Given the description of an element on the screen output the (x, y) to click on. 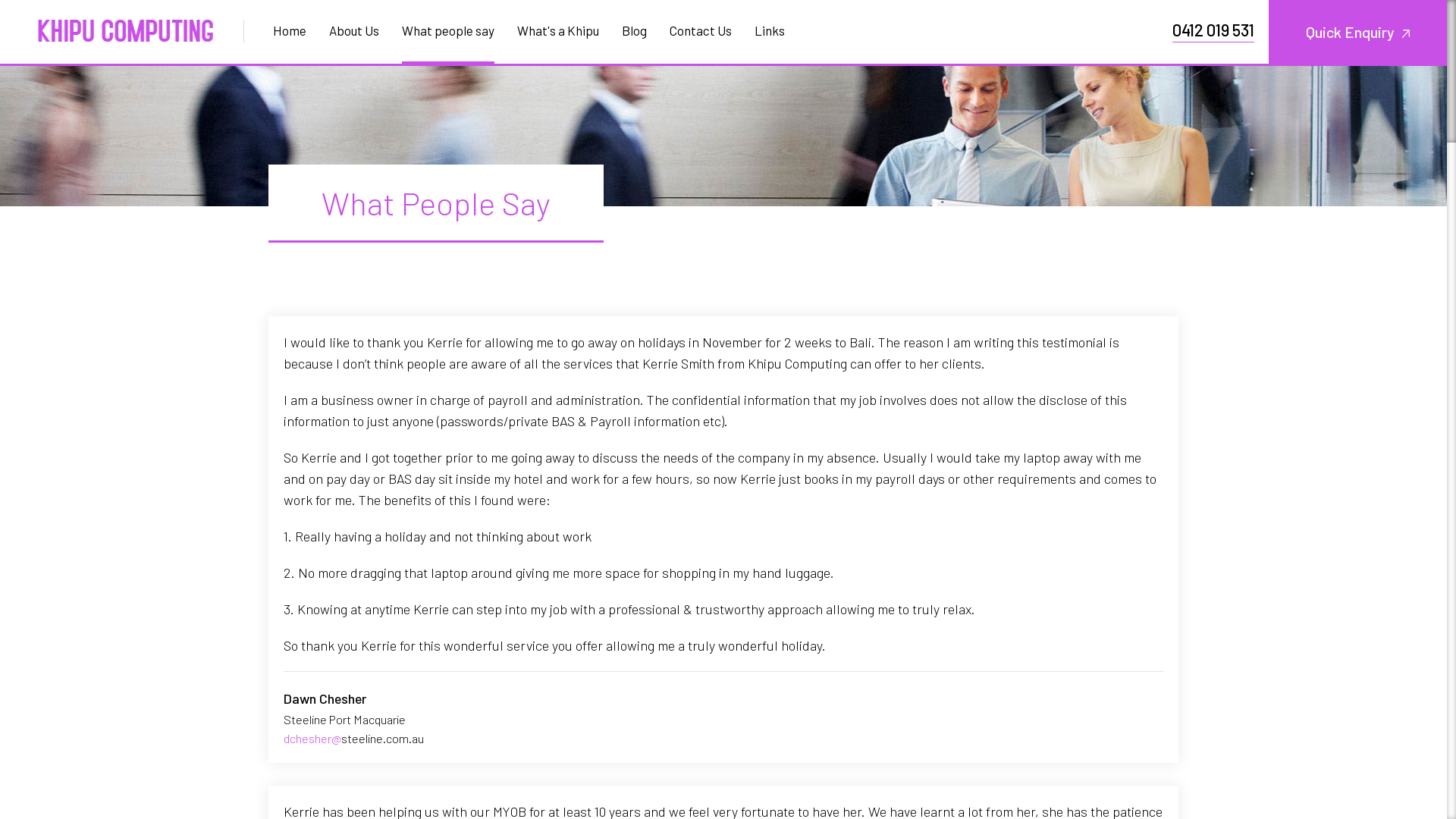
Contact Us Element type: text (700, 30)
dchesher@ Element type: text (312, 738)
What's a Khipu Element type: text (557, 30)
0412 019 531 Element type: text (1213, 29)
About Us Element type: text (353, 30)
Blog Element type: text (634, 30)
Home Element type: text (295, 30)
Links Element type: text (763, 30)
Quick Enquiry Element type: text (1357, 31)
What people say Element type: text (447, 30)
